Given the description of an element on the screen output the (x, y) to click on. 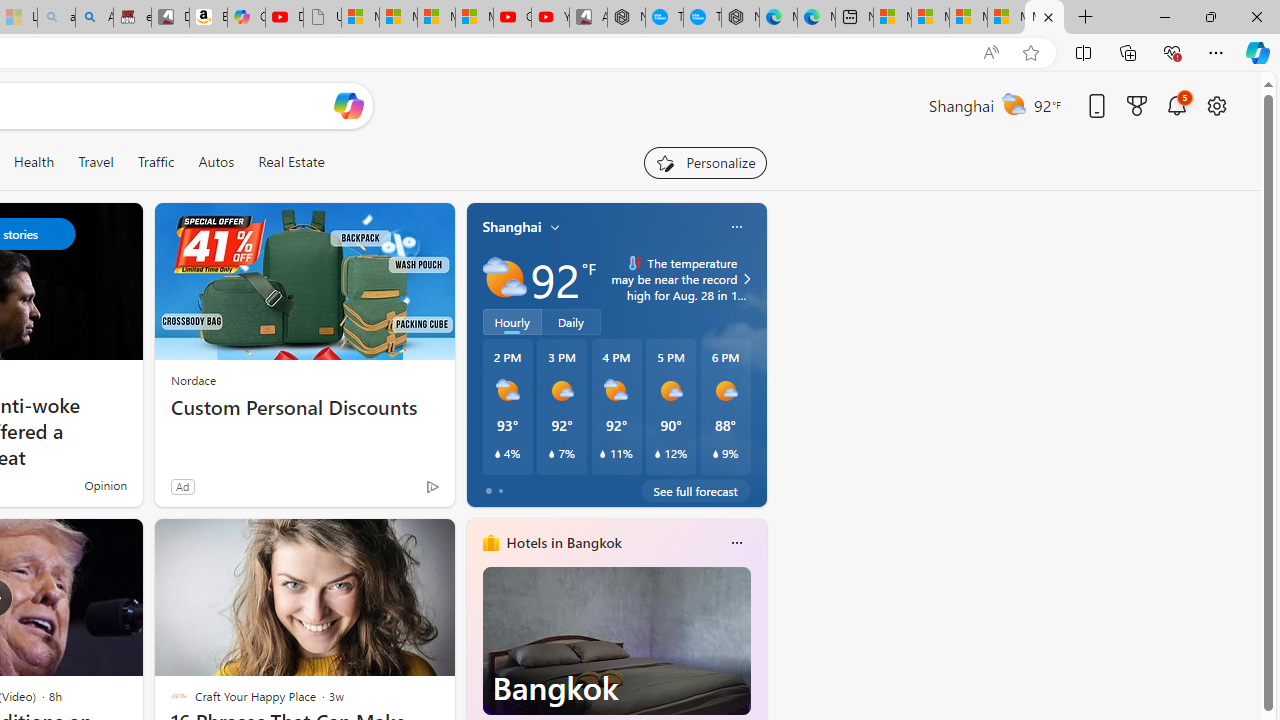
New Tab (1085, 17)
Open Copilot (347, 105)
Travel (95, 162)
Gloom - YouTube (512, 17)
Microsoft Start (1044, 17)
Class: icon-img (736, 542)
My location (555, 227)
Health (33, 162)
Open Copilot (347, 105)
Shanghai (511, 227)
Microsoft account | Privacy (1006, 17)
Nordace (193, 380)
